Given the description of an element on the screen output the (x, y) to click on. 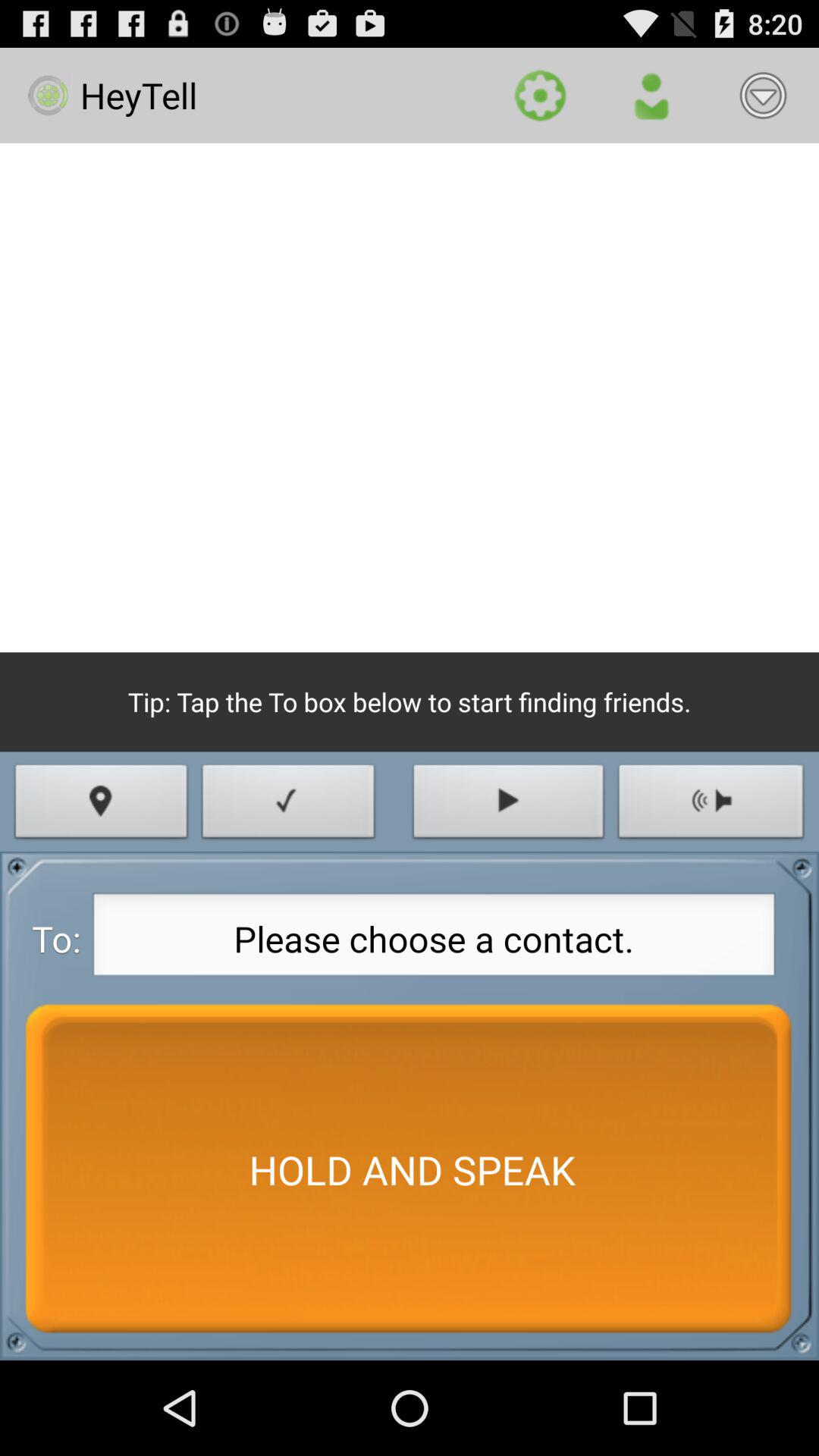
launch the item above please choose a icon (101, 805)
